Given the description of an element on the screen output the (x, y) to click on. 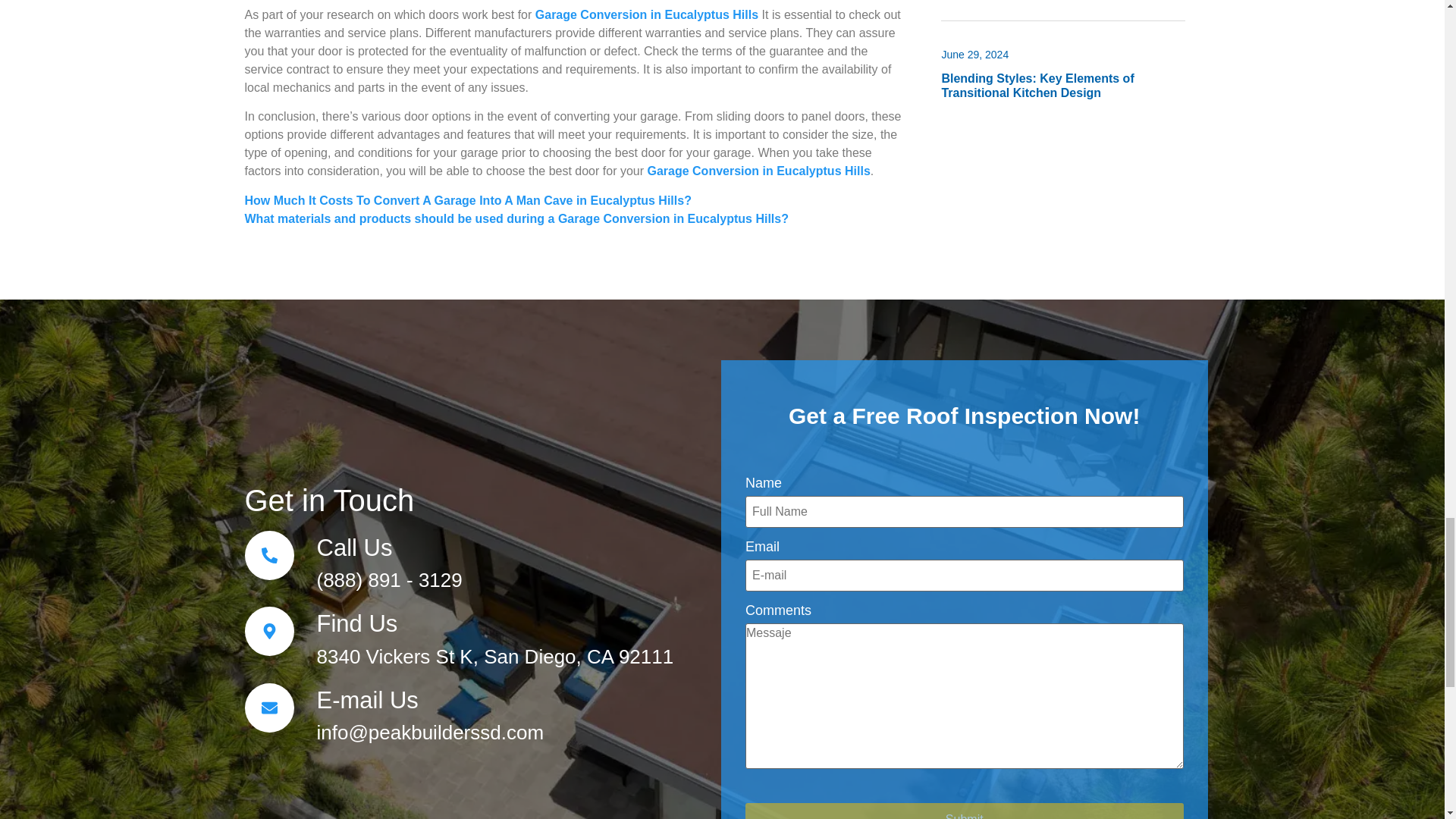
Submit (964, 811)
